Given the description of an element on the screen output the (x, y) to click on. 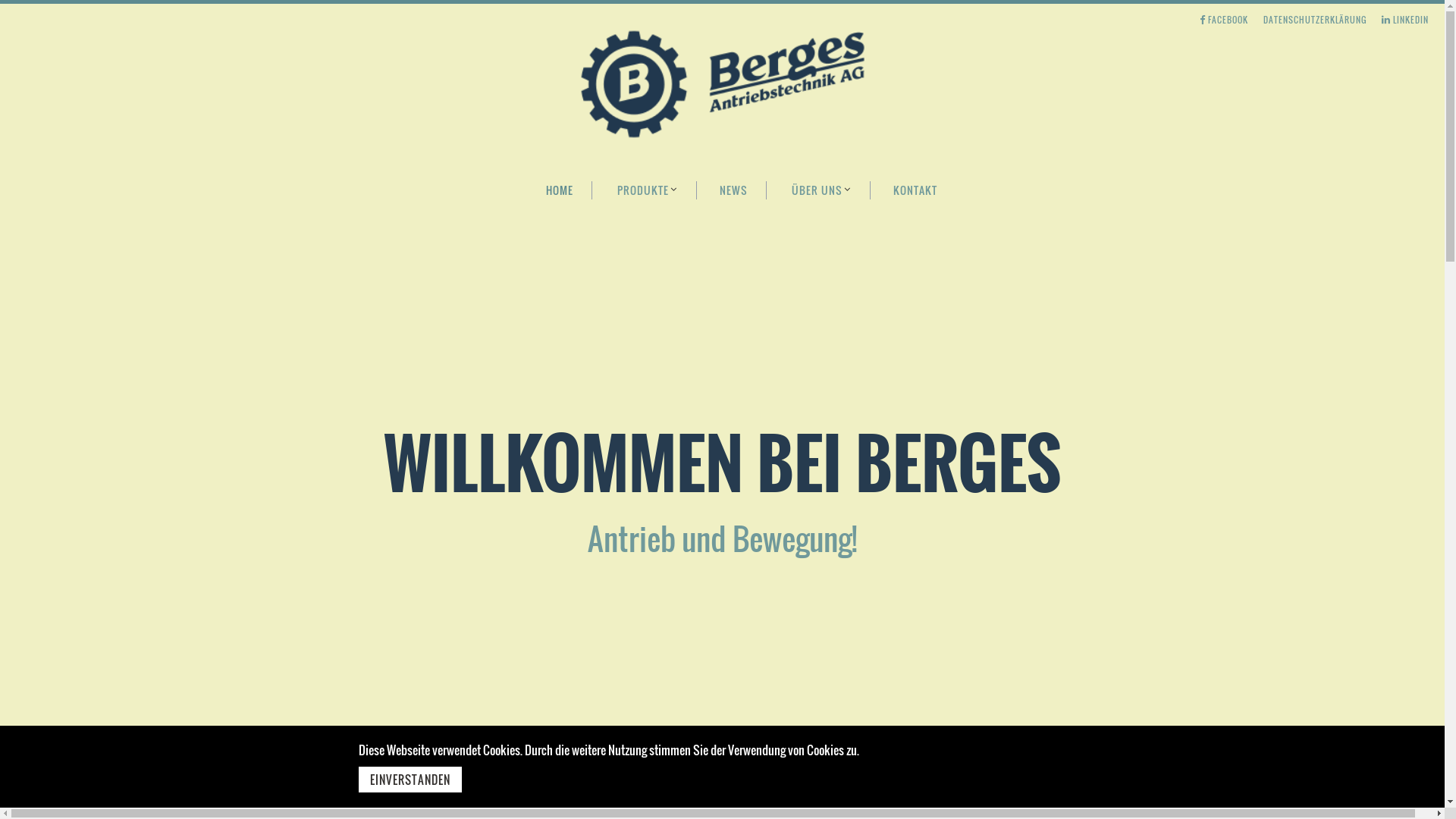
FACEBOOK Element type: text (1223, 19)
LINKEDIN Element type: text (1405, 19)
HOME Element type: text (560, 186)
KONTAKT Element type: text (914, 186)
NEWS Element type: text (735, 186)
PRODUKTE Element type: text (647, 186)
